Given the description of an element on the screen output the (x, y) to click on. 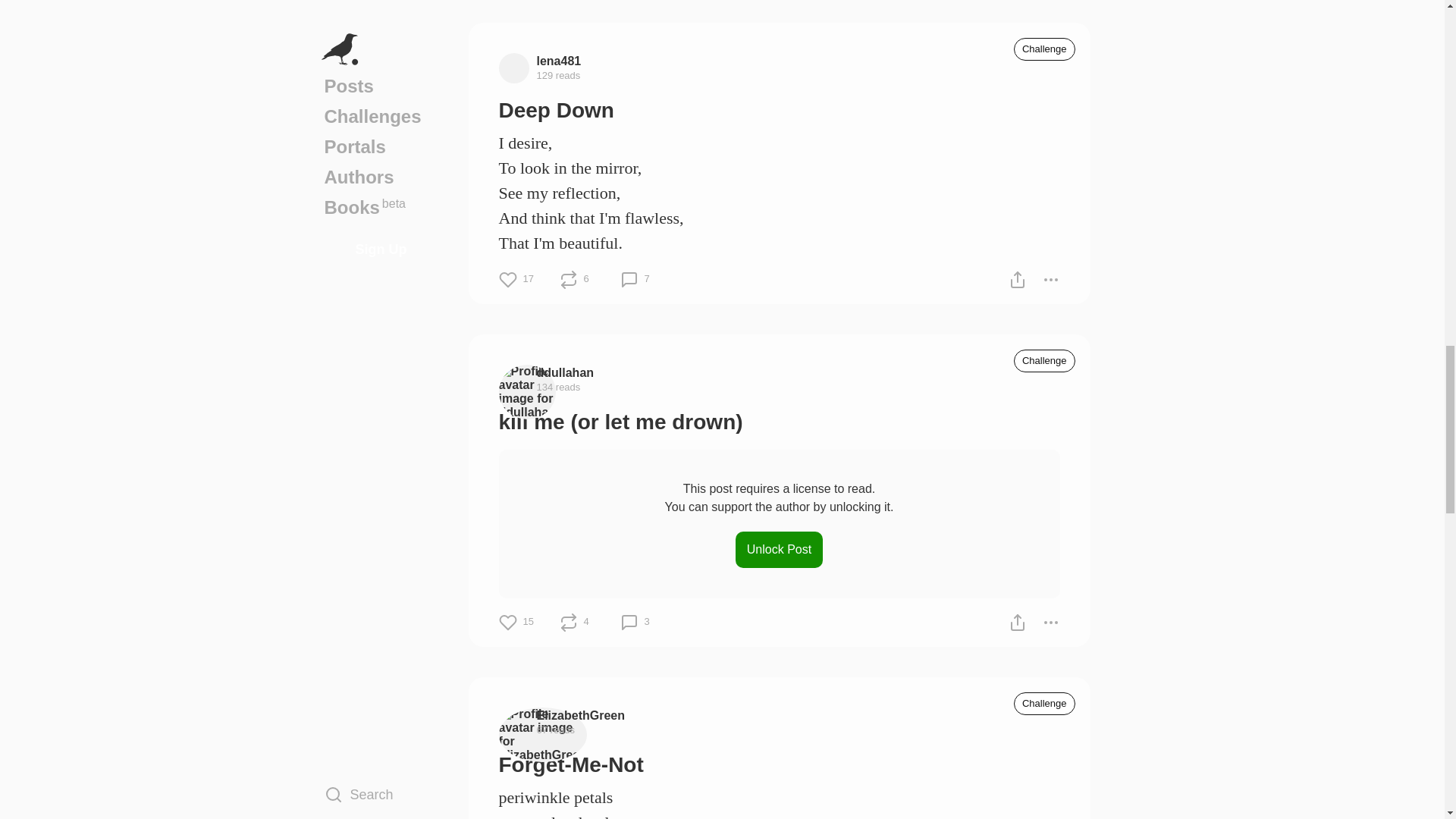
Challenge (1044, 48)
